Given the description of an element on the screen output the (x, y) to click on. 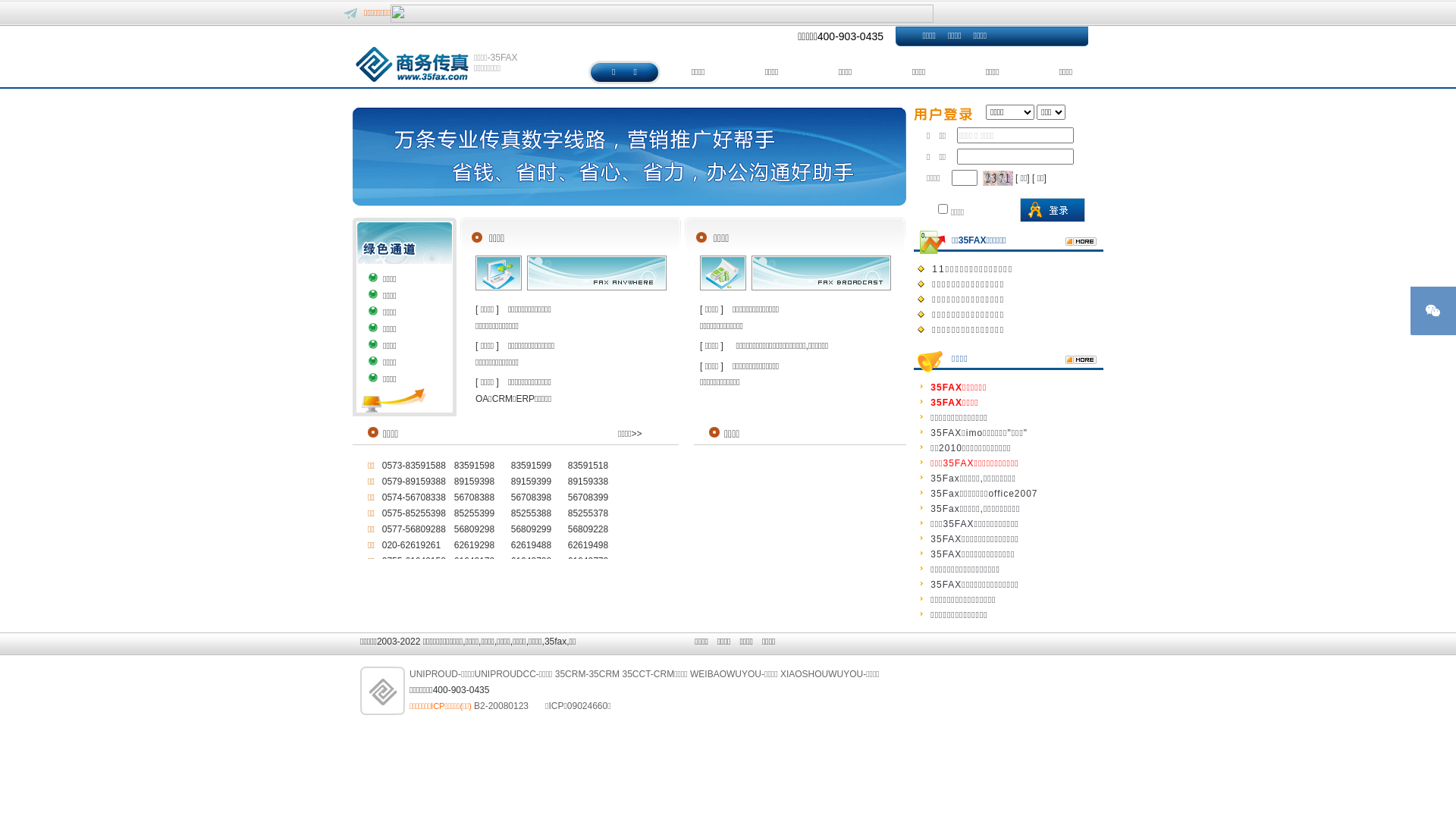
B2-20080123 Element type: text (500, 705)
35CRM-35CRM Element type: text (587, 673)
